Given the description of an element on the screen output the (x, y) to click on. 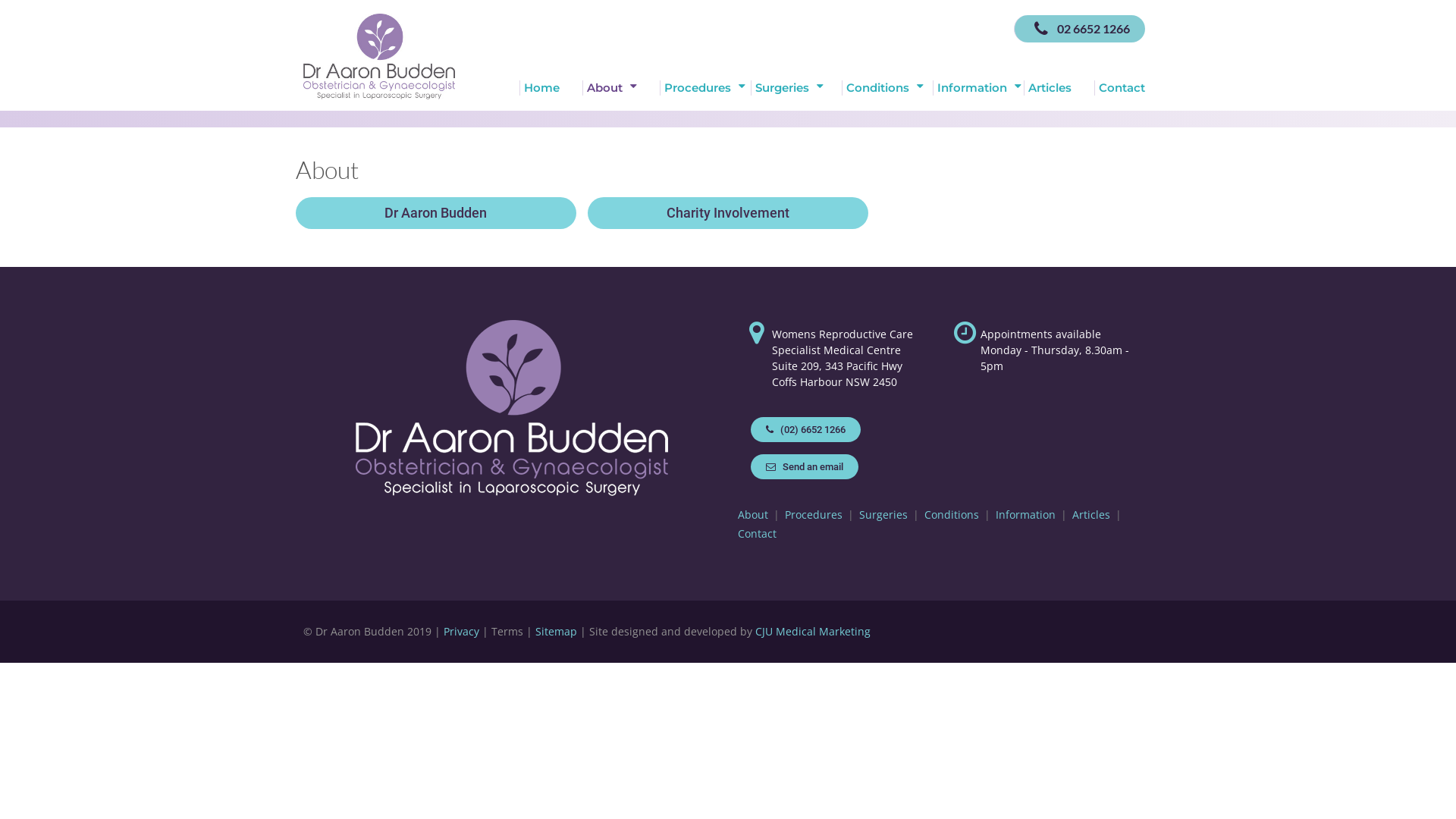
Home Element type: text (550, 87)
Surgeries Element type: text (795, 87)
Procedures Element type: text (704, 87)
About Element type: text (752, 514)
Articles Element type: text (1058, 87)
Articles Element type: text (1091, 514)
Send an email Element type: text (804, 466)
Contact Element type: text (1119, 87)
Surgeries Element type: text (883, 514)
02 6652 1266 Element type: text (1079, 28)
Charity Involvement Element type: text (727, 213)
CJU Medical Marketing Element type: text (812, 631)
Conditions Element type: text (886, 87)
Sitemap Element type: text (556, 631)
Contact Element type: text (756, 533)
About Element type: text (620, 87)
Information Element type: text (977, 87)
(02) 6652 1266 Element type: text (805, 429)
Conditions Element type: text (951, 514)
Privacy Element type: text (461, 631)
Dr Aaron Budden Element type: text (435, 213)
Information Element type: text (1025, 514)
Procedures Element type: text (813, 514)
